Given the description of an element on the screen output the (x, y) to click on. 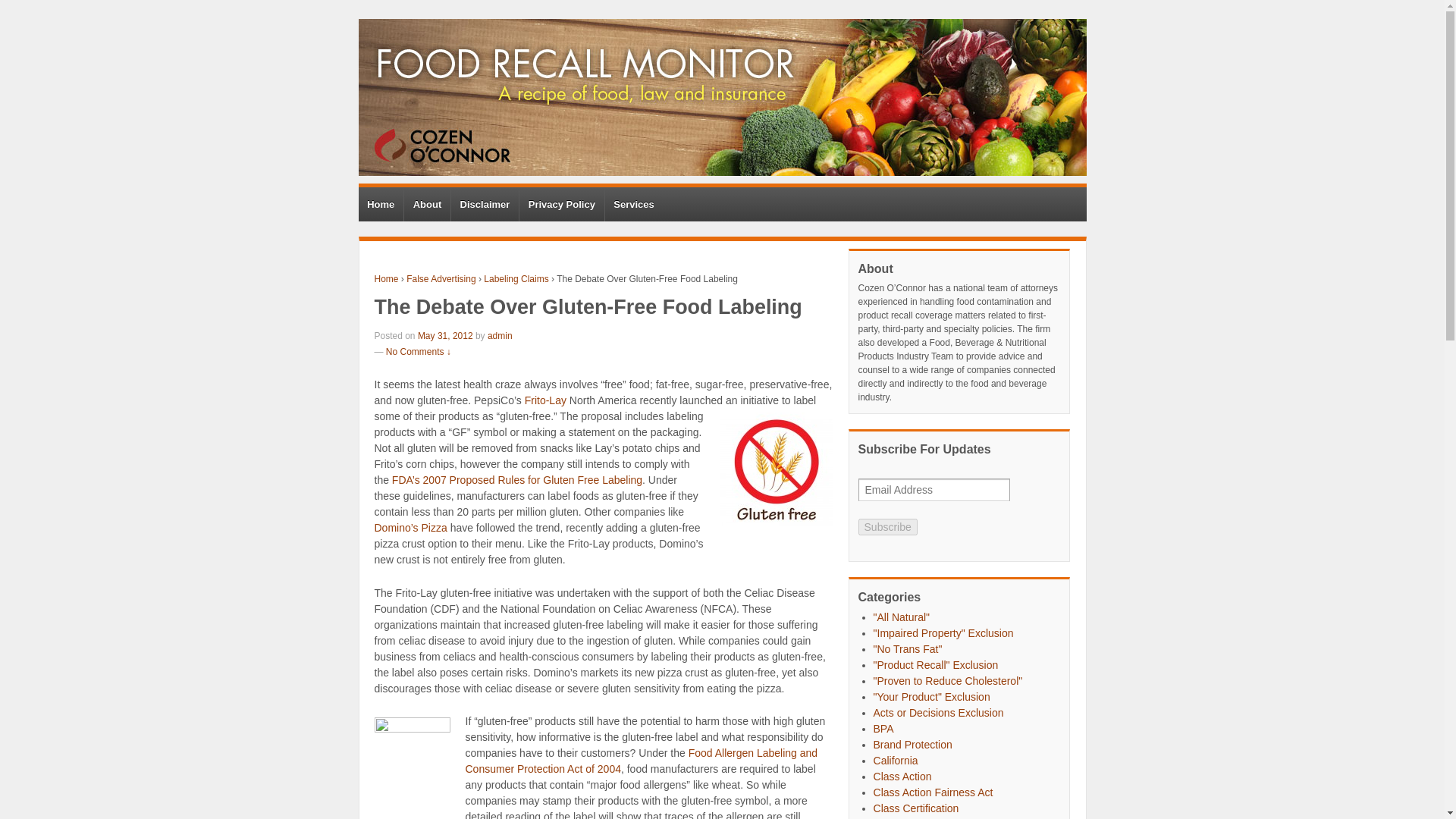
Class Action Fairness Act (932, 792)
Home (380, 204)
10:53 am (445, 335)
Acts or Decisions Exclusion (938, 712)
Brand Protection (912, 744)
View all posts by admin (499, 335)
California (895, 760)
Subscribe (888, 526)
"Impaired Property" Exclusion (943, 633)
Home (386, 278)
Disclaimer (483, 204)
Services (633, 204)
"Proven to Reduce Cholesterol" (948, 680)
Frito-Lay (545, 399)
